Given the description of an element on the screen output the (x, y) to click on. 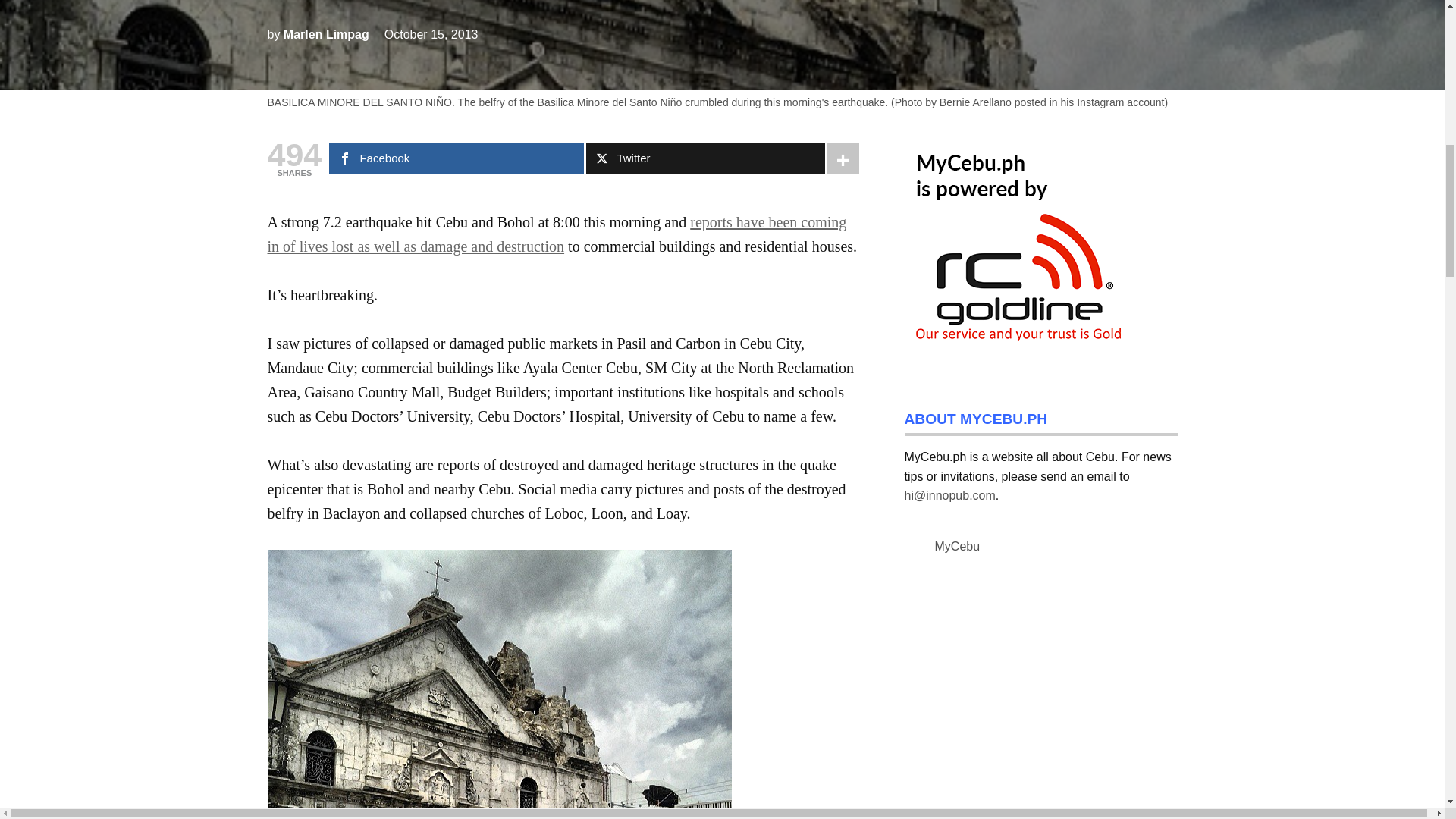
Marlen Limpag (326, 33)
Twitter (705, 158)
Facebook (456, 158)
